Given the description of an element on the screen output the (x, y) to click on. 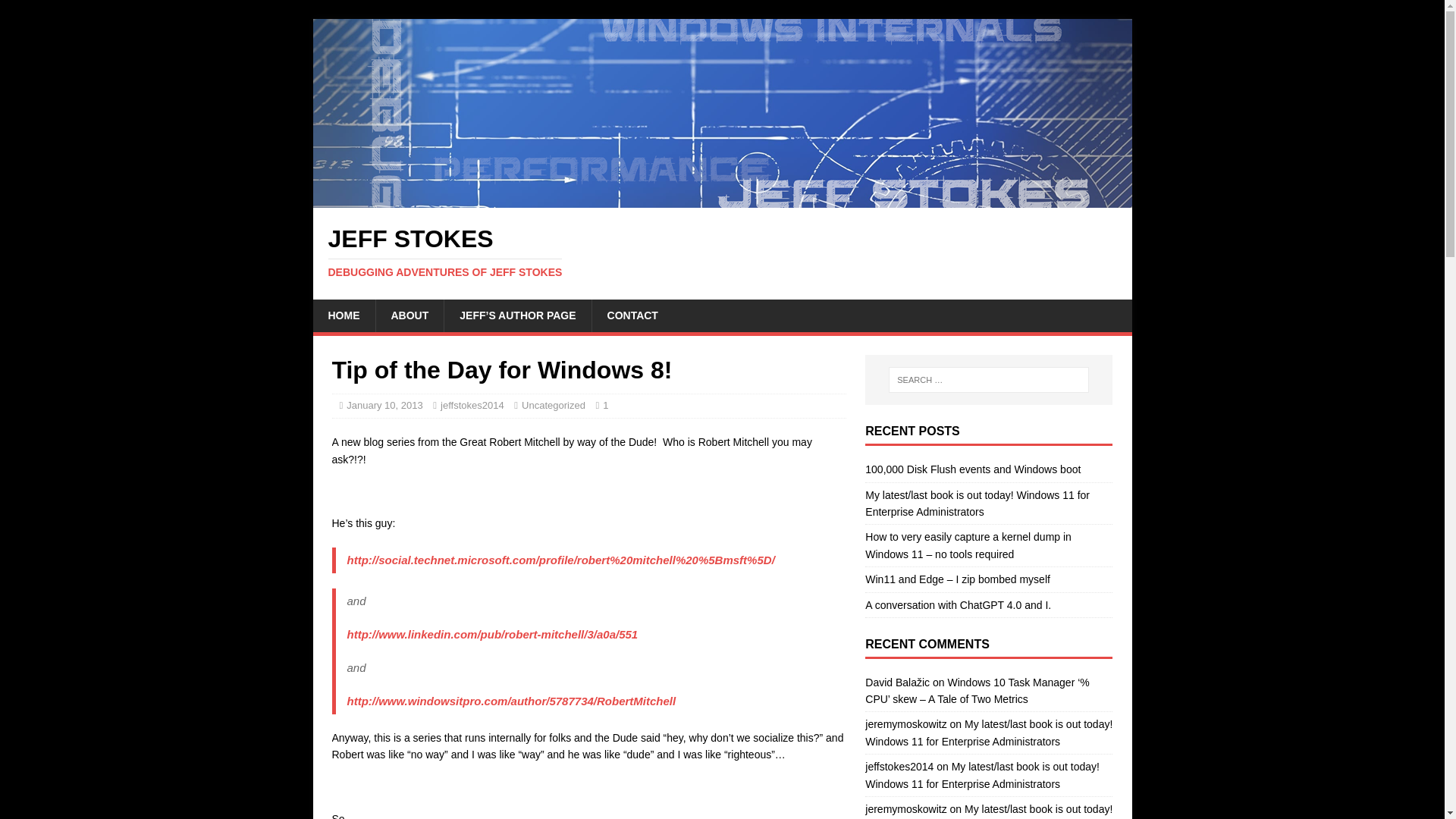
100,000 Disk Flush events and Windows boot (972, 469)
1 (605, 405)
January 10, 2013 (384, 405)
jeremymoskowitz (905, 808)
jeffstokes2014 (898, 766)
HOME (343, 315)
jeffstokes2014 (472, 405)
CONTACT (721, 252)
1 (631, 315)
Jeff Stokes (605, 405)
ABOUT (721, 252)
Search (409, 315)
jeremymoskowitz (56, 11)
A conversation with ChatGPT 4.0 and I. (905, 724)
